Given the description of an element on the screen output the (x, y) to click on. 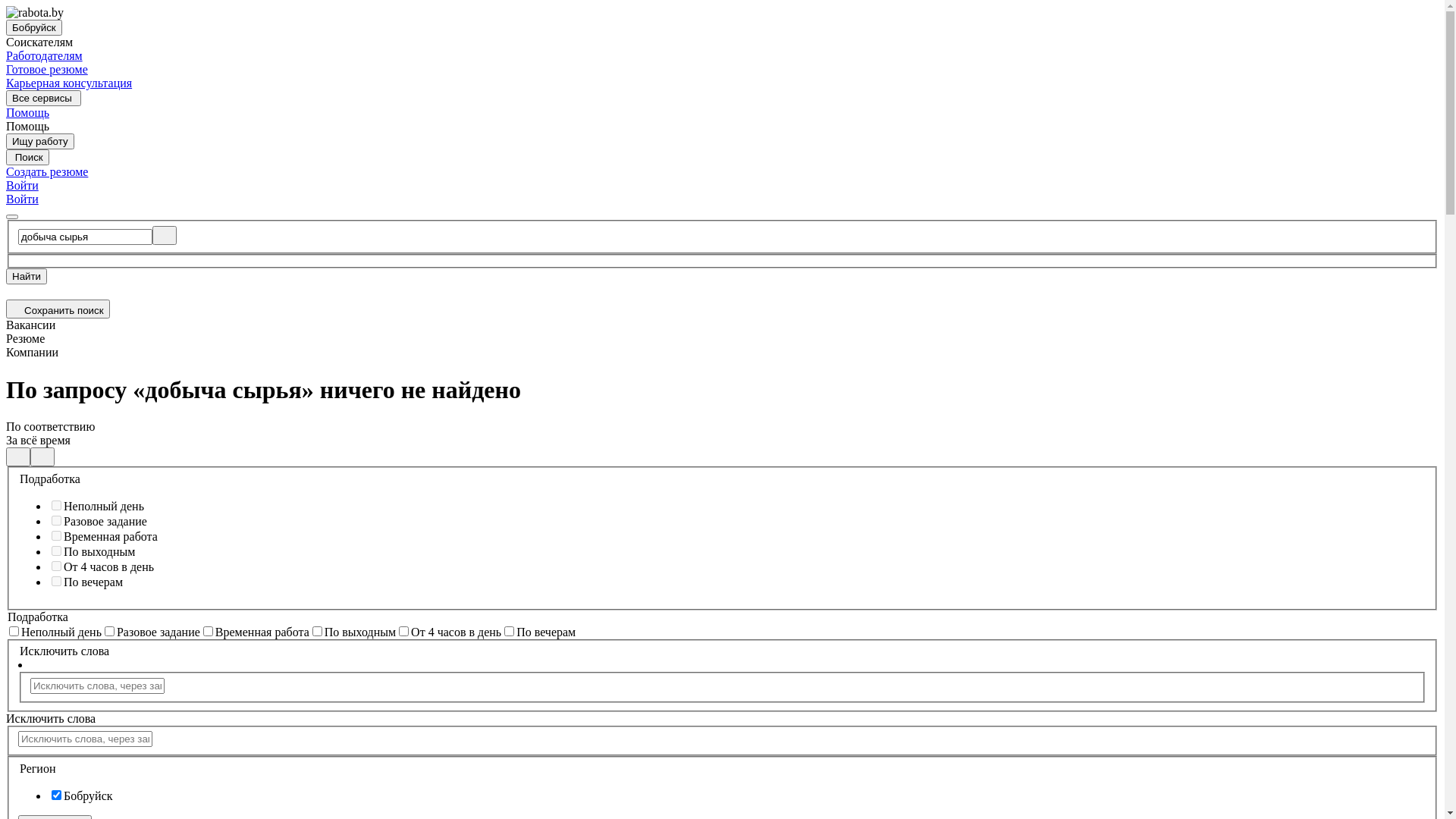
Clear Element type: hover (164, 234)
